Given the description of an element on the screen output the (x, y) to click on. 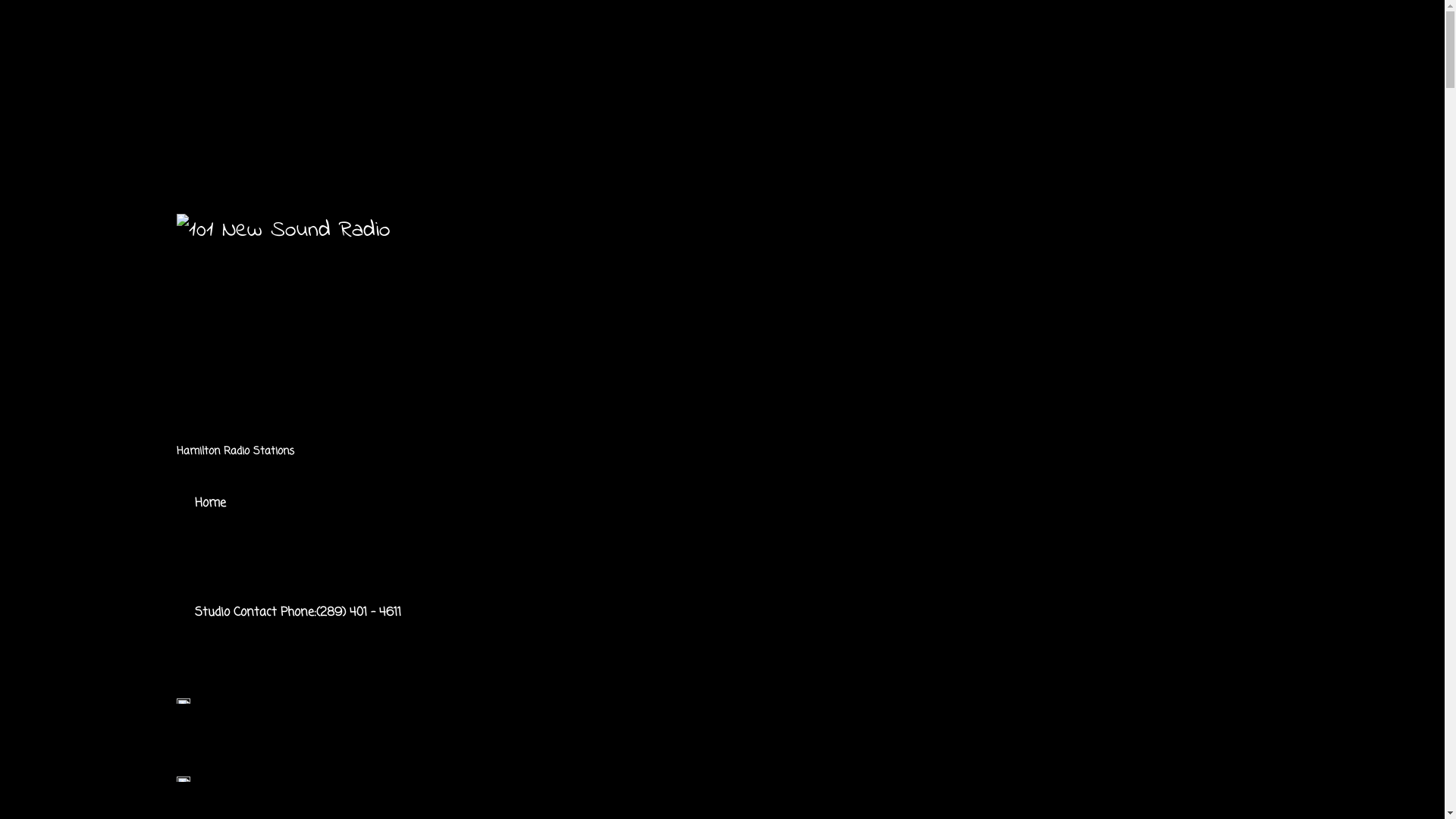
Home Element type: text (209, 503)
Studio Contact Phone:(289) 401 - 4611 Element type: text (296, 612)
